Given the description of an element on the screen output the (x, y) to click on. 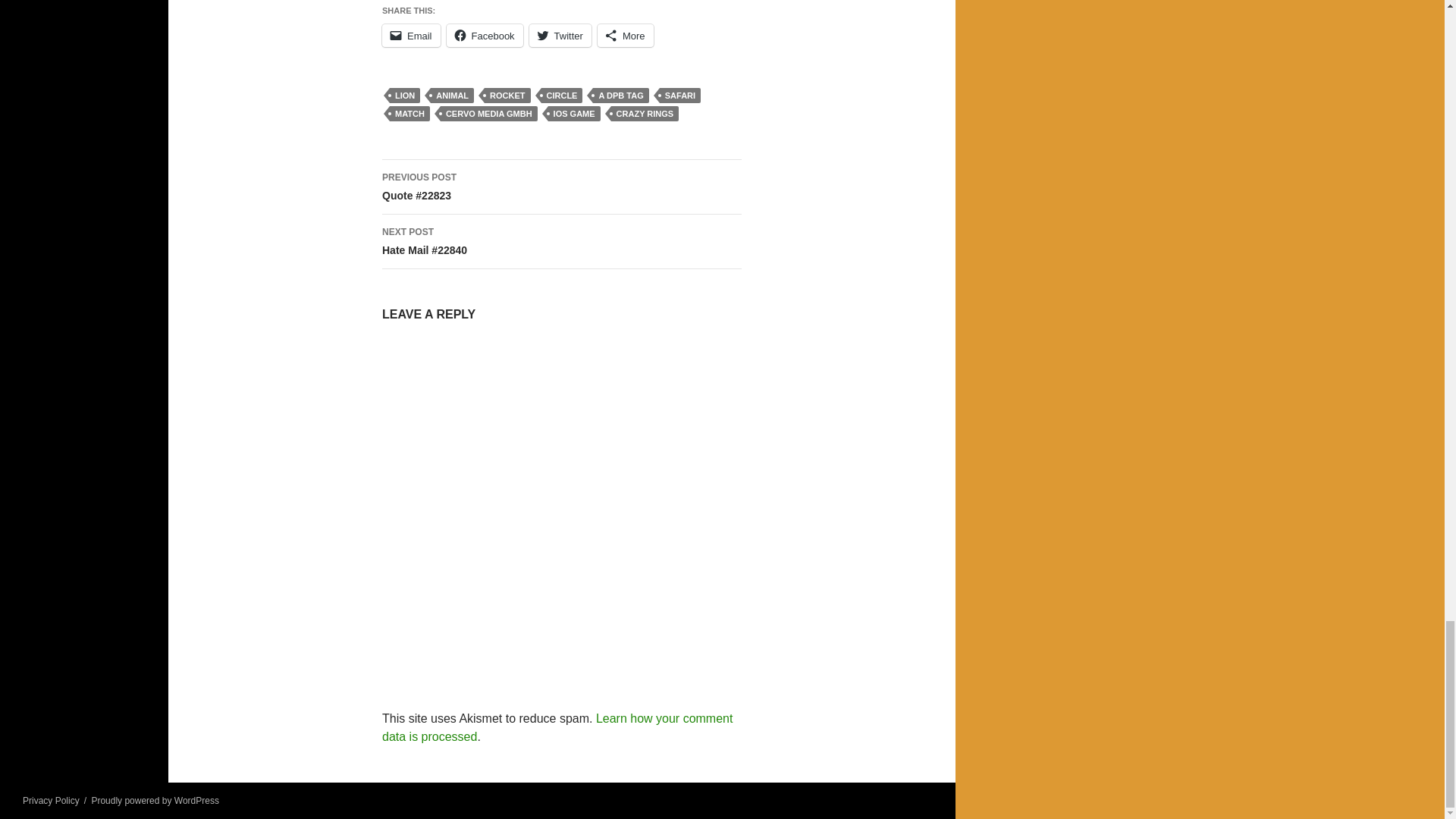
Click to share on Facebook (484, 35)
Facebook (484, 35)
Comment Form (561, 505)
Click to email a link to a friend (411, 35)
Twitter (560, 35)
CIRCLE (562, 95)
More (624, 35)
ROCKET (506, 95)
LION (405, 95)
Click to share on Twitter (560, 35)
